Given the description of an element on the screen output the (x, y) to click on. 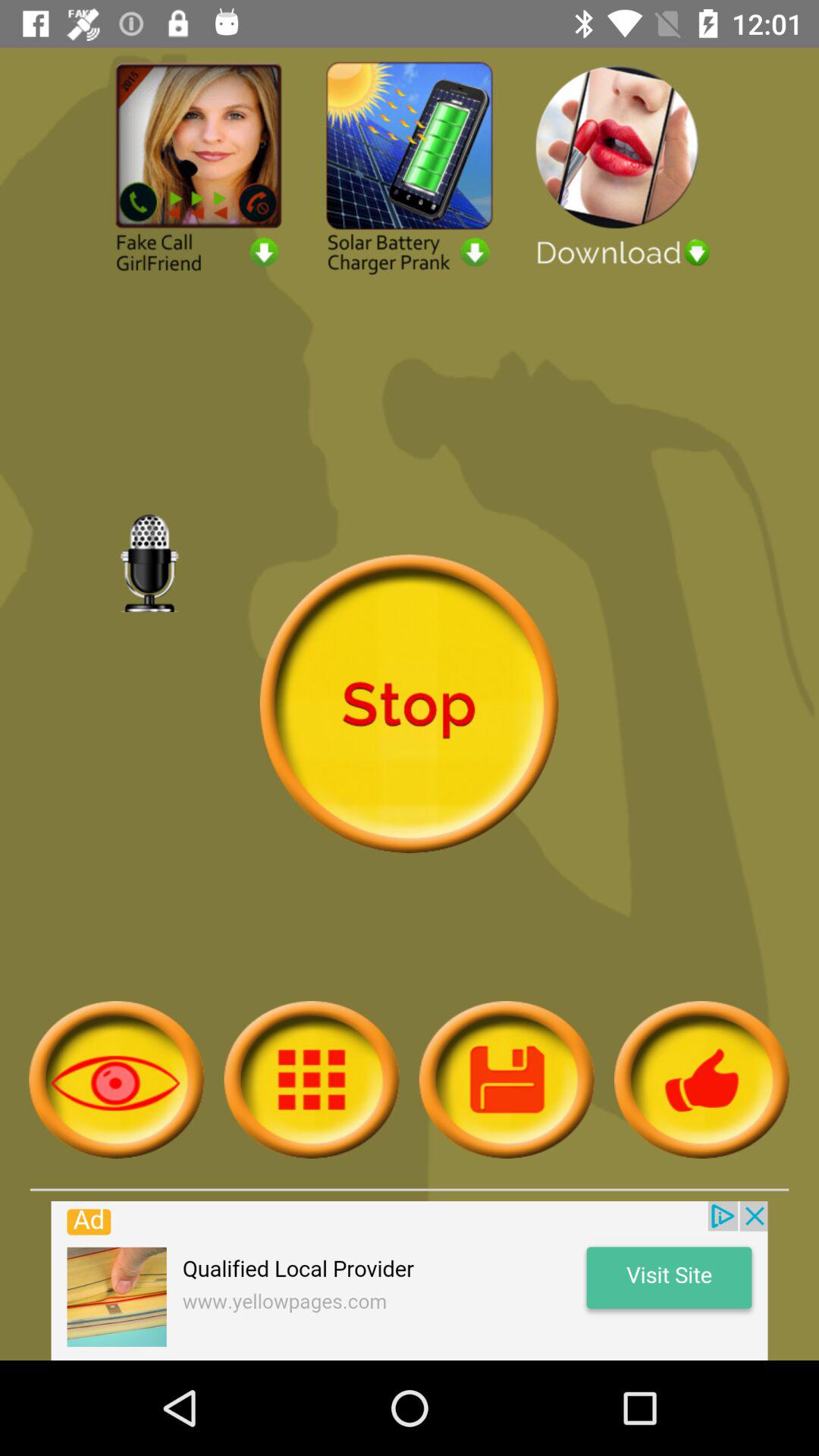
view advertisement (409, 1280)
